Given the description of an element on the screen output the (x, y) to click on. 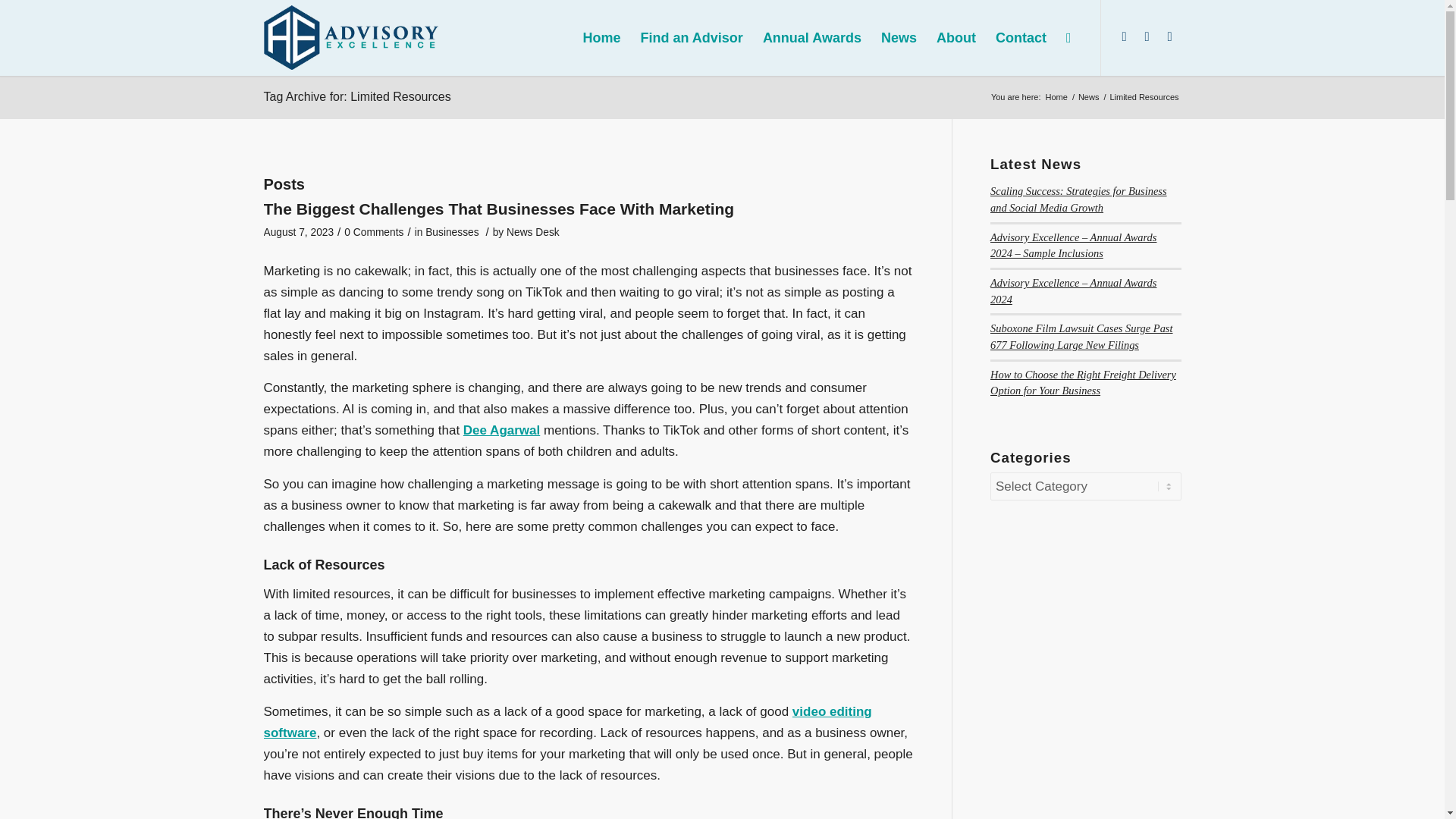
Facebook (1169, 36)
News Desk (532, 232)
Tag Archive for: Limited Resources (357, 96)
News (1088, 97)
Find an Advisor (691, 38)
The Biggest Challenges That Businesses Face With Marketing (499, 208)
Businesses (452, 232)
Contact (1021, 38)
Advisory-Excellence-logo (351, 36)
Permanent Link: Tag Archive for: Limited Resources (357, 96)
LinkedIn (1124, 36)
Twitter (1146, 36)
Dee Agarwal (501, 430)
0 Comments (373, 232)
